Given the description of an element on the screen output the (x, y) to click on. 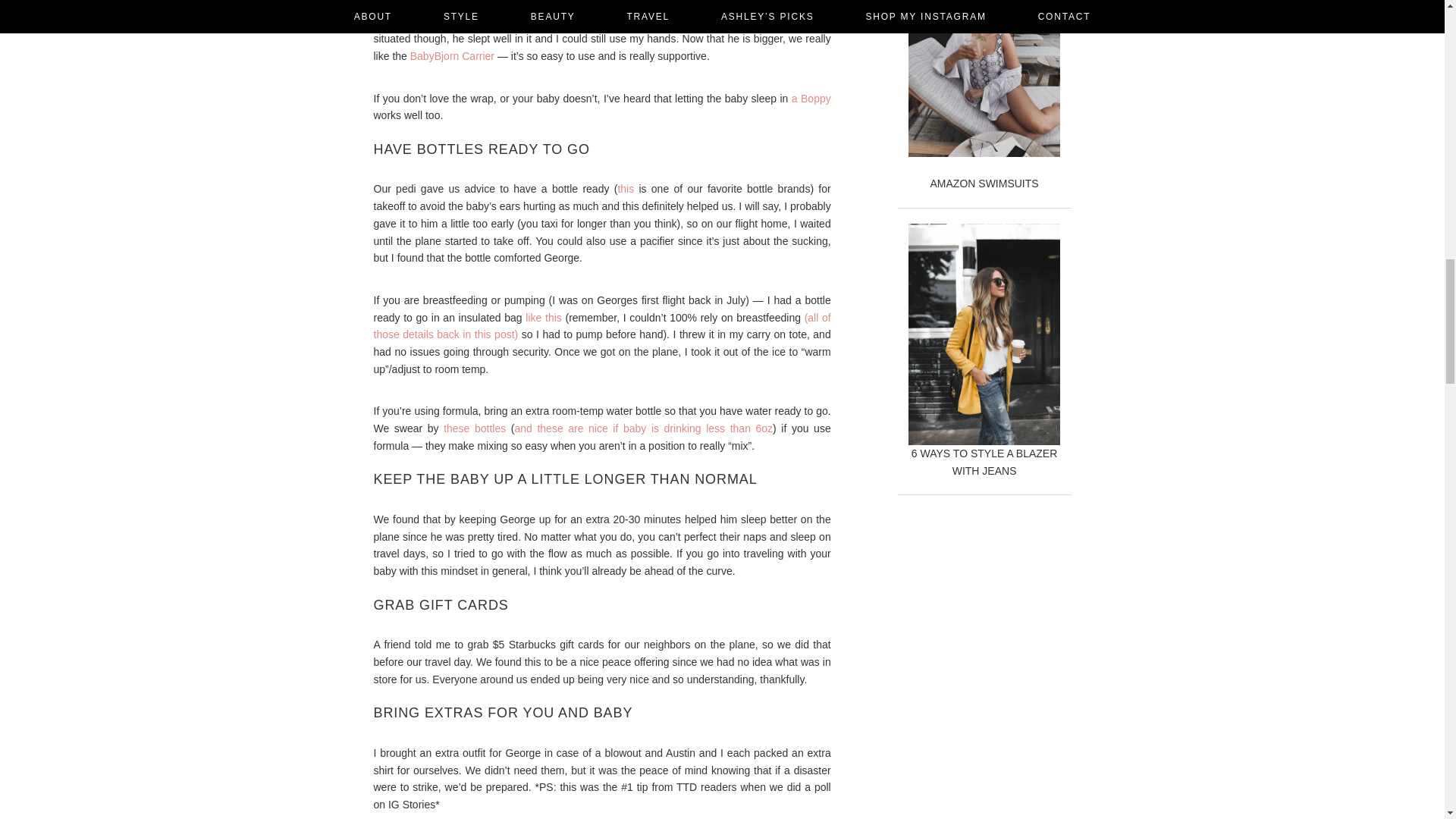
these bottles (474, 428)
this (625, 188)
a Boppy (811, 98)
and these are nice if baby is drinking less than 6oz (643, 428)
BabyBjorn Carrier (452, 55)
like this (542, 317)
